Given the description of an element on the screen output the (x, y) to click on. 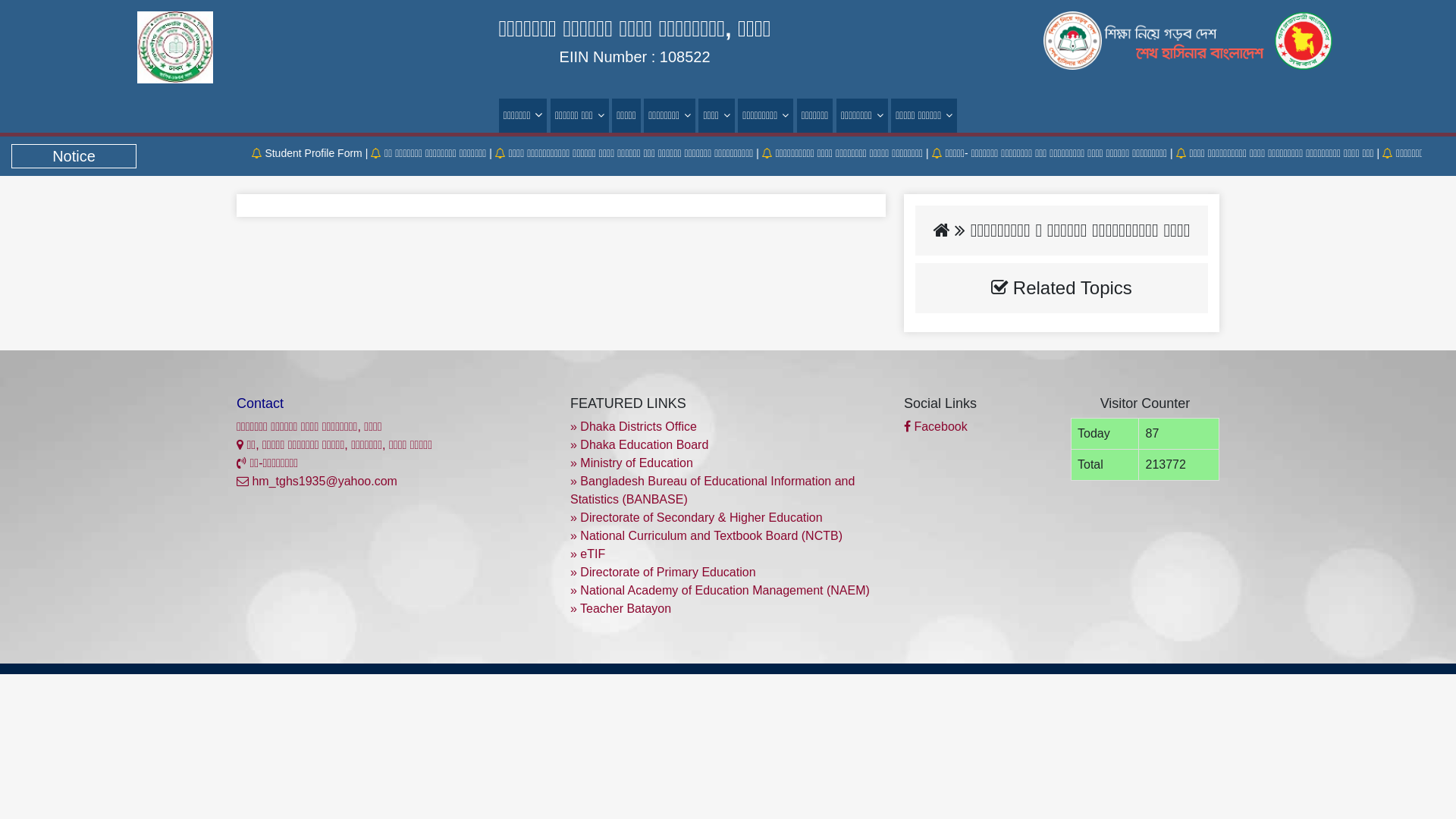
Student Profile Form | Element type: text (341, 153)
hm_tghs1935@yahoo.com Element type: text (316, 480)
Facebook Element type: text (935, 426)
Contact Element type: text (259, 403)
